Given the description of an element on the screen output the (x, y) to click on. 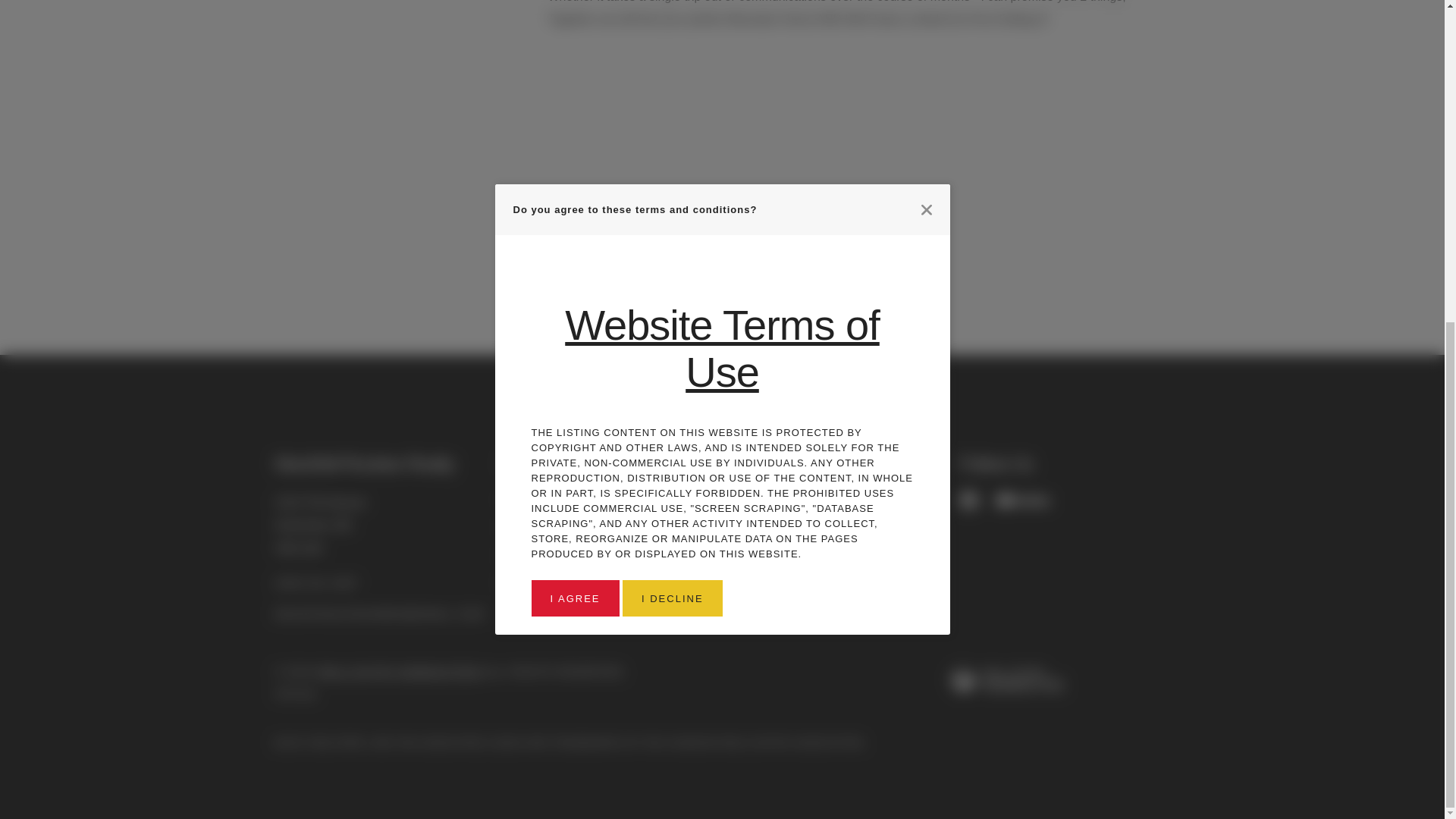
YOUTUBE FOR (1022, 500)
FACEBOOK FOR (968, 500)
